Given the description of an element on the screen output the (x, y) to click on. 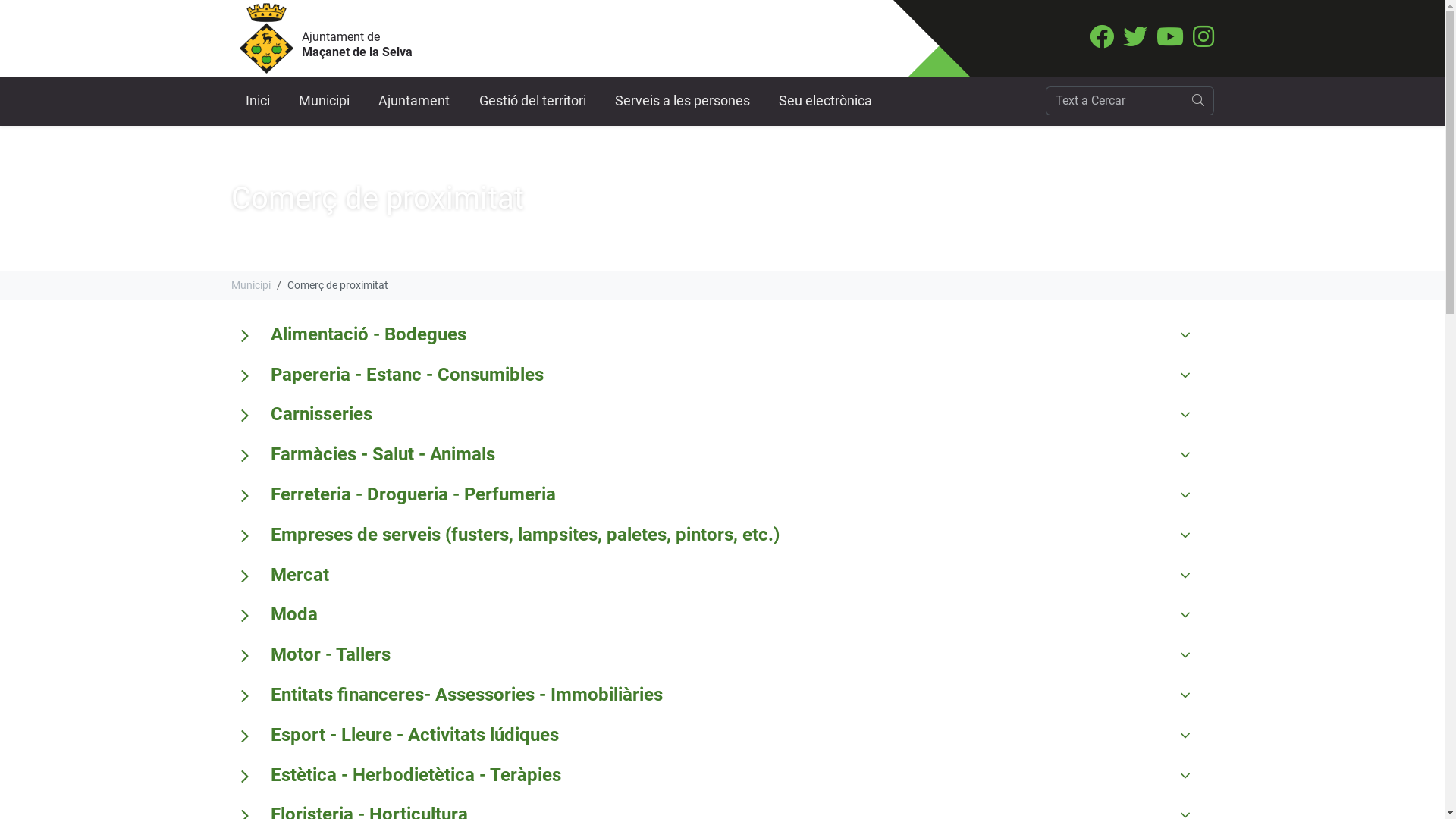
Ajuntament Element type: text (414, 100)
Inici Element type: text (256, 100)
Municipi Element type: text (249, 285)
Municipi Element type: text (324, 100)
facebook Element type: hover (1100, 41)
Serveis a les persones Element type: text (682, 100)
youtube Element type: hover (1169, 41)
Carnisseries Element type: text (320, 414)
Ferreteria - Drogueria - Perfumeria Element type: text (412, 494)
Moda Element type: text (292, 614)
instagram Element type: hover (1202, 41)
Papereria - Estanc - Consumibles Element type: text (405, 374)
Motor - Tallers Element type: text (329, 654)
twitter Element type: hover (1134, 41)
Mercat Element type: text (298, 575)
